Given the description of an element on the screen output the (x, y) to click on. 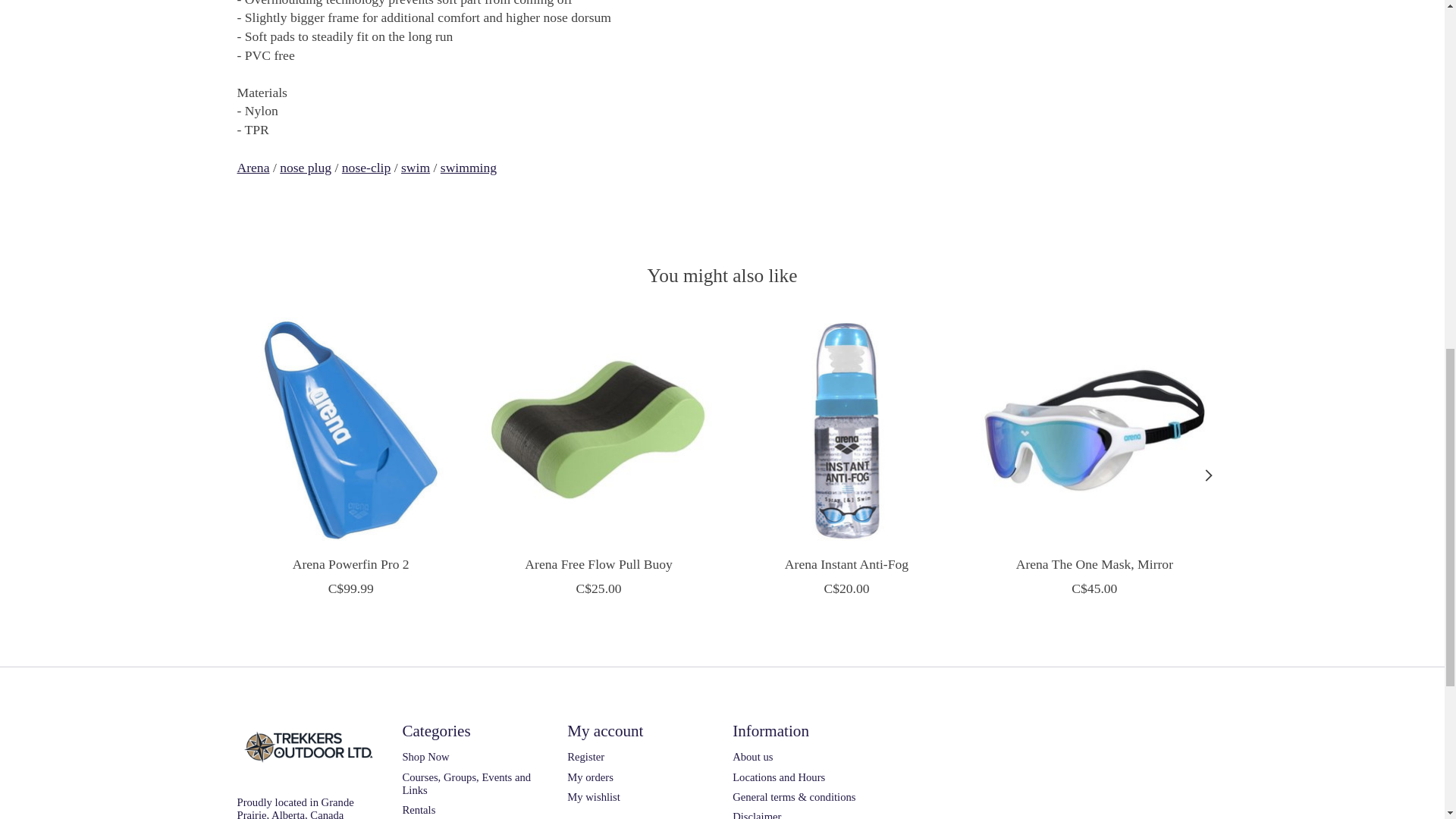
nose plug (305, 167)
Arena Arena Powerfin Pro 2 (349, 429)
Arena Arena Free Flow Pull Buoy (597, 429)
swim (415, 167)
Arena (252, 167)
nose-clip (366, 167)
swimming (468, 167)
